Given the description of an element on the screen output the (x, y) to click on. 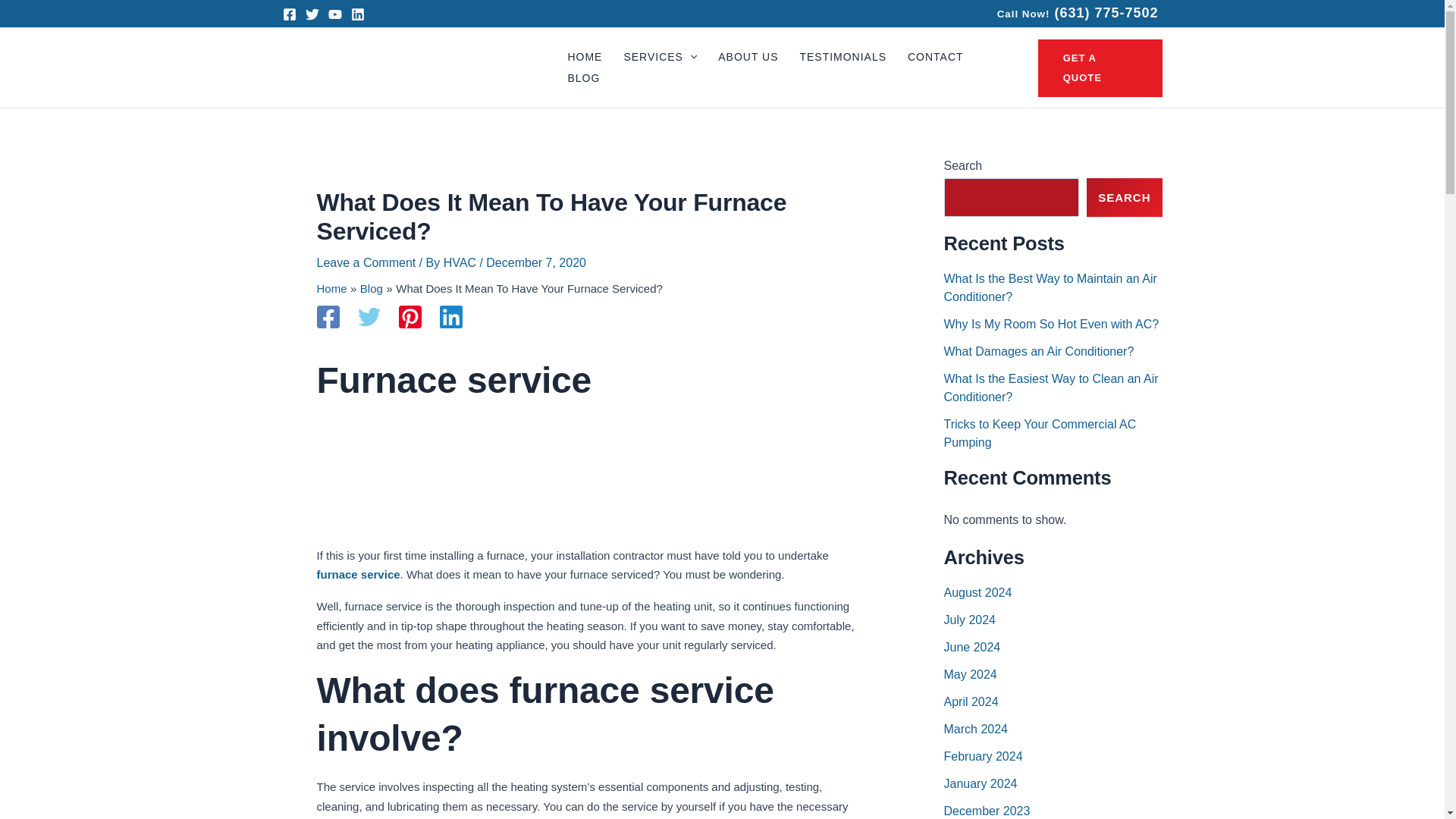
GET A QUOTE (1099, 68)
View all posts by HVAC (462, 262)
HOME (584, 56)
ABOUT US (748, 56)
CONTACT (935, 56)
SERVICES (659, 56)
TESTIMONIALS (842, 56)
BLOG (583, 78)
